Given the description of an element on the screen output the (x, y) to click on. 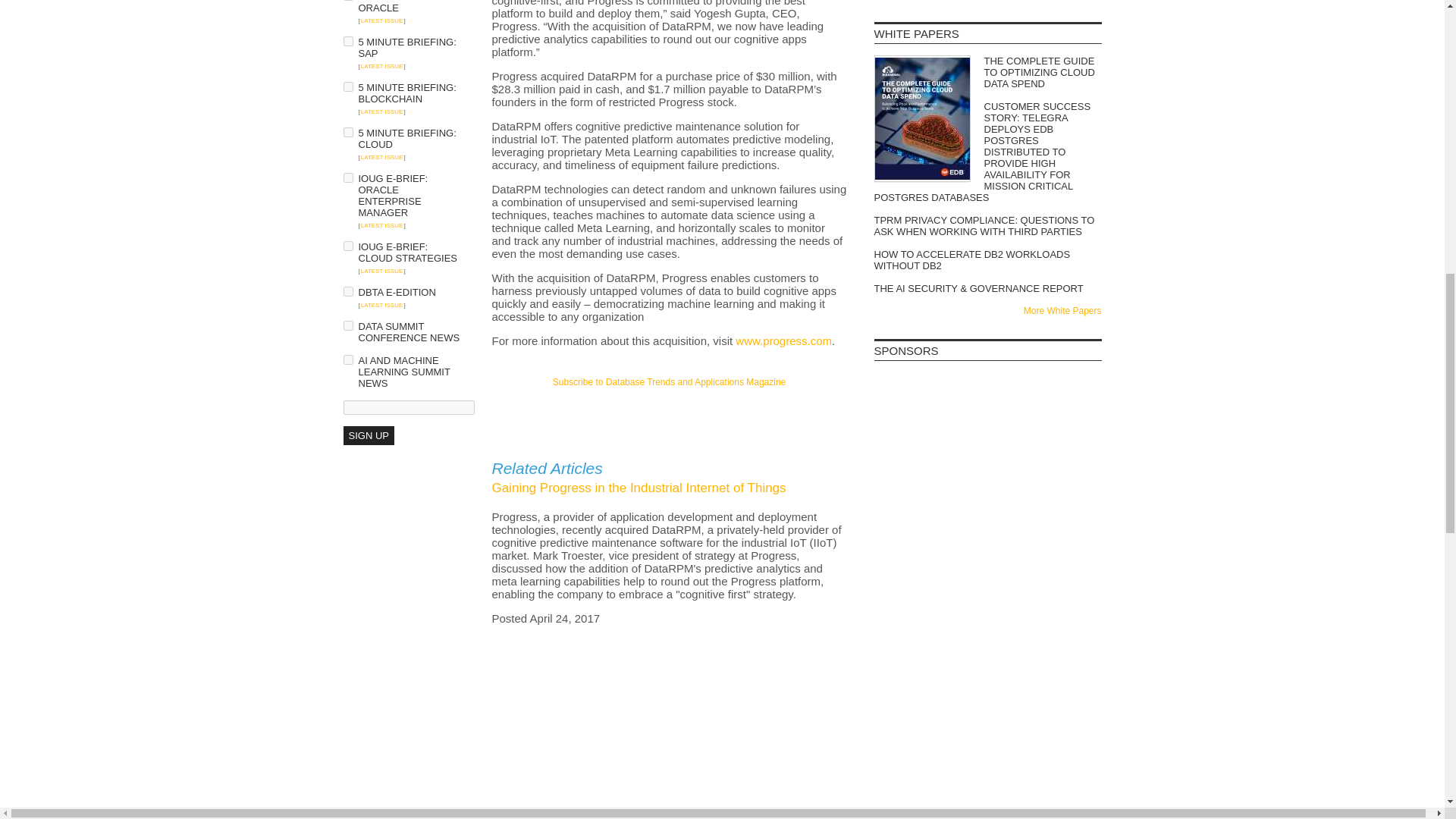
3rd party ad content (986, 500)
on (347, 359)
on (347, 177)
on (347, 291)
on (347, 132)
on (347, 86)
3rd party ad content (668, 417)
on (347, 40)
How to Accelerate DB2 Workloads Without DB2 (986, 259)
3rd party ad content (986, 409)
Sign Up (367, 435)
Gaining Progress in the Industrial Internet of Things (639, 487)
on (347, 245)
